Given the description of an element on the screen output the (x, y) to click on. 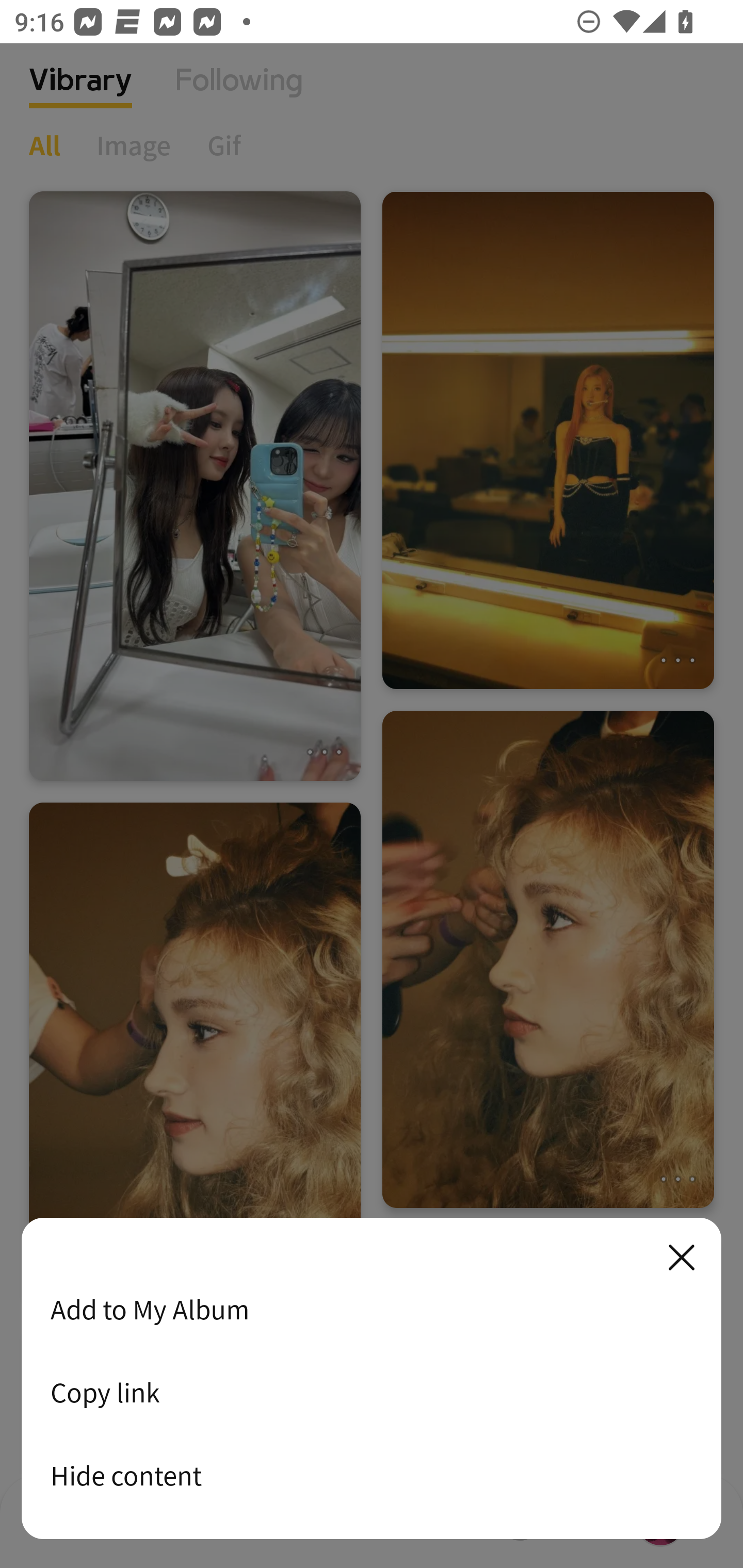
Add to My Album Copy link Hide content (371, 1378)
Add to My Album (371, 1308)
Copy link (371, 1391)
Hide content (371, 1474)
